Given the description of an element on the screen output the (x, y) to click on. 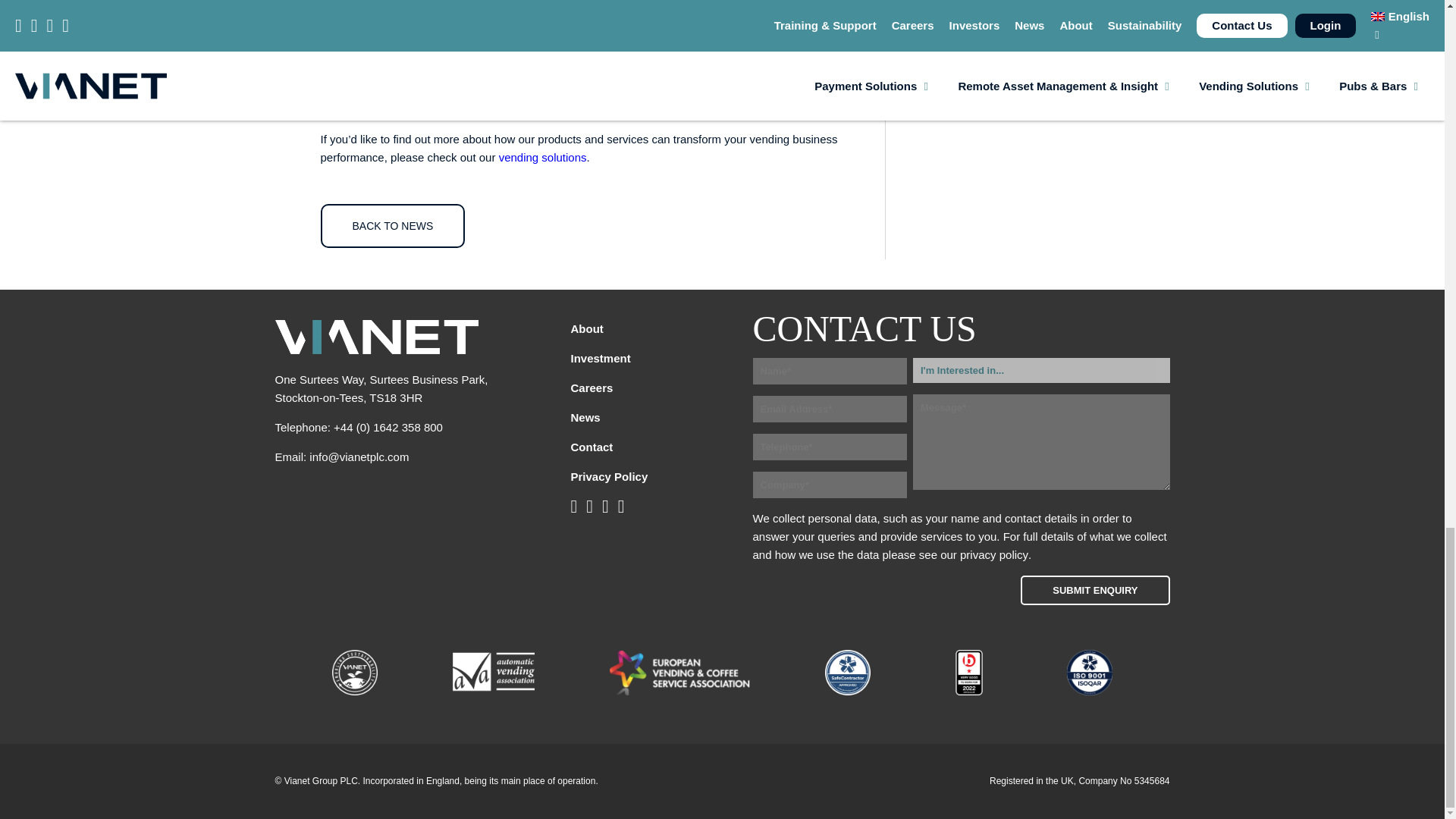
Submit Enquiry (1094, 590)
